Given the description of an element on the screen output the (x, y) to click on. 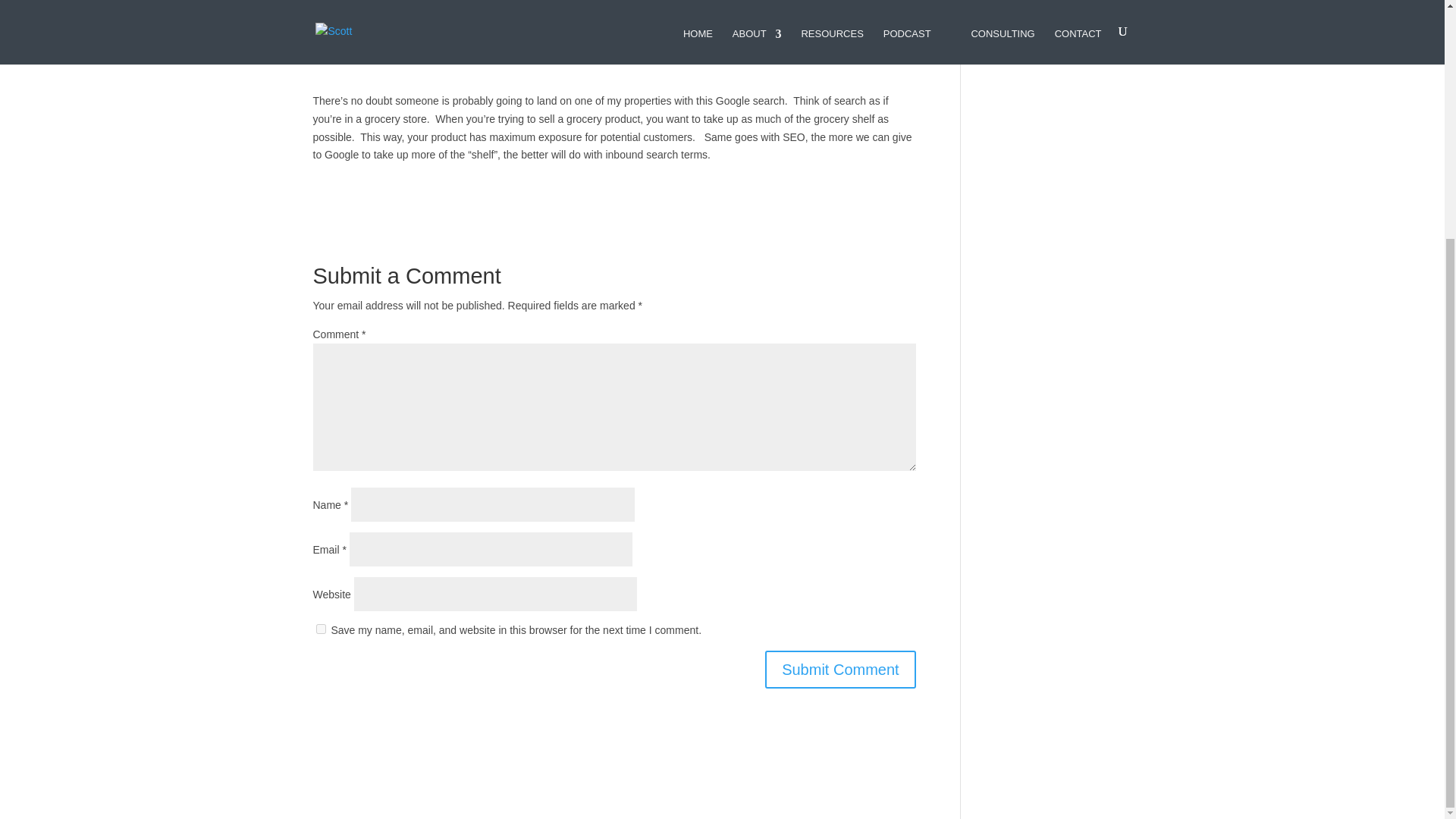
Submit Comment (840, 669)
yes (319, 628)
Submit Comment (840, 669)
